Given the description of an element on the screen output the (x, y) to click on. 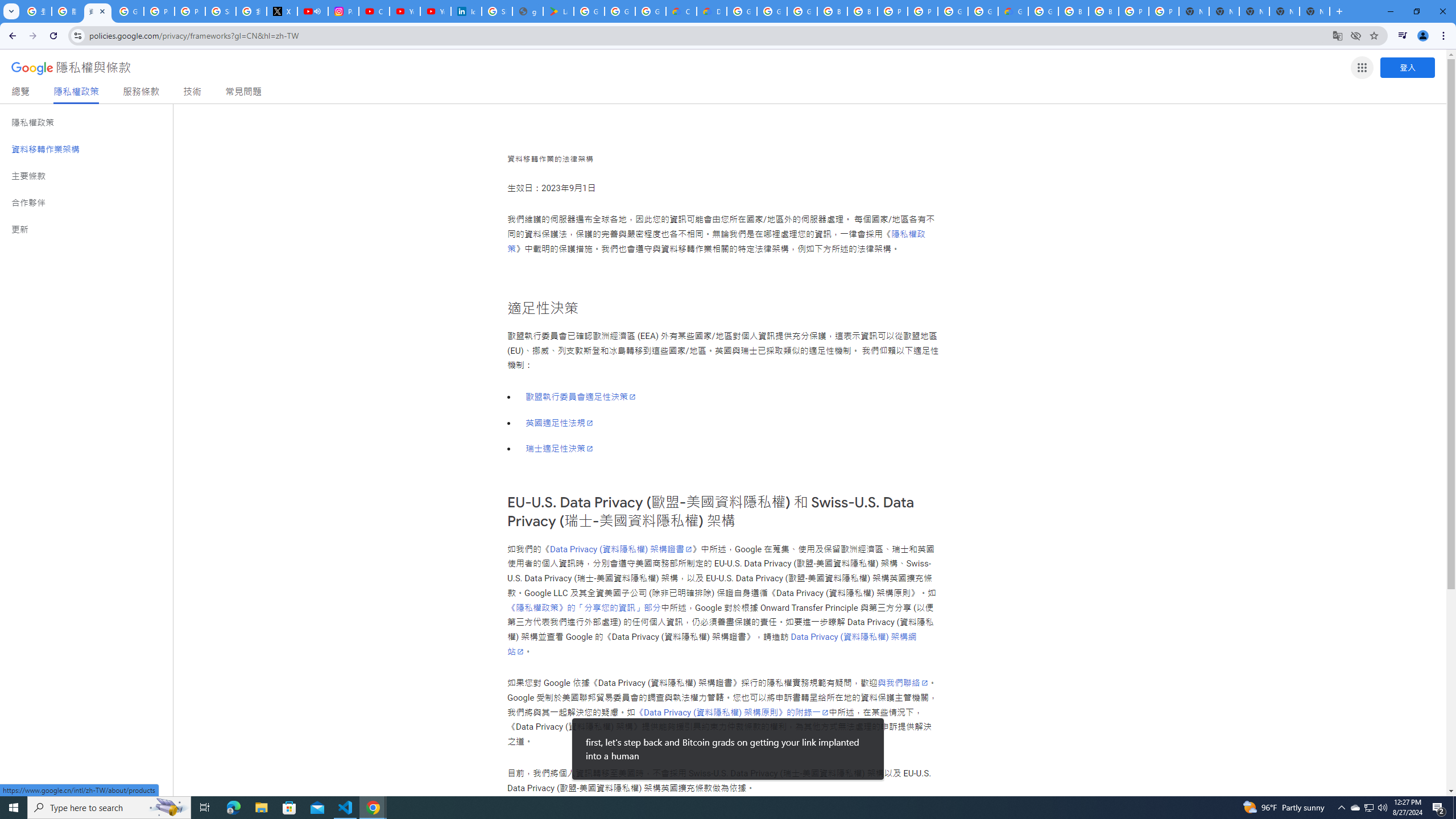
Mute tab (317, 10)
Browse Chrome as a guest - Computer - Google Chrome Help (1072, 11)
Customer Care | Google Cloud (681, 11)
google_privacy_policy_en.pdf (527, 11)
